Given the description of an element on the screen output the (x, y) to click on. 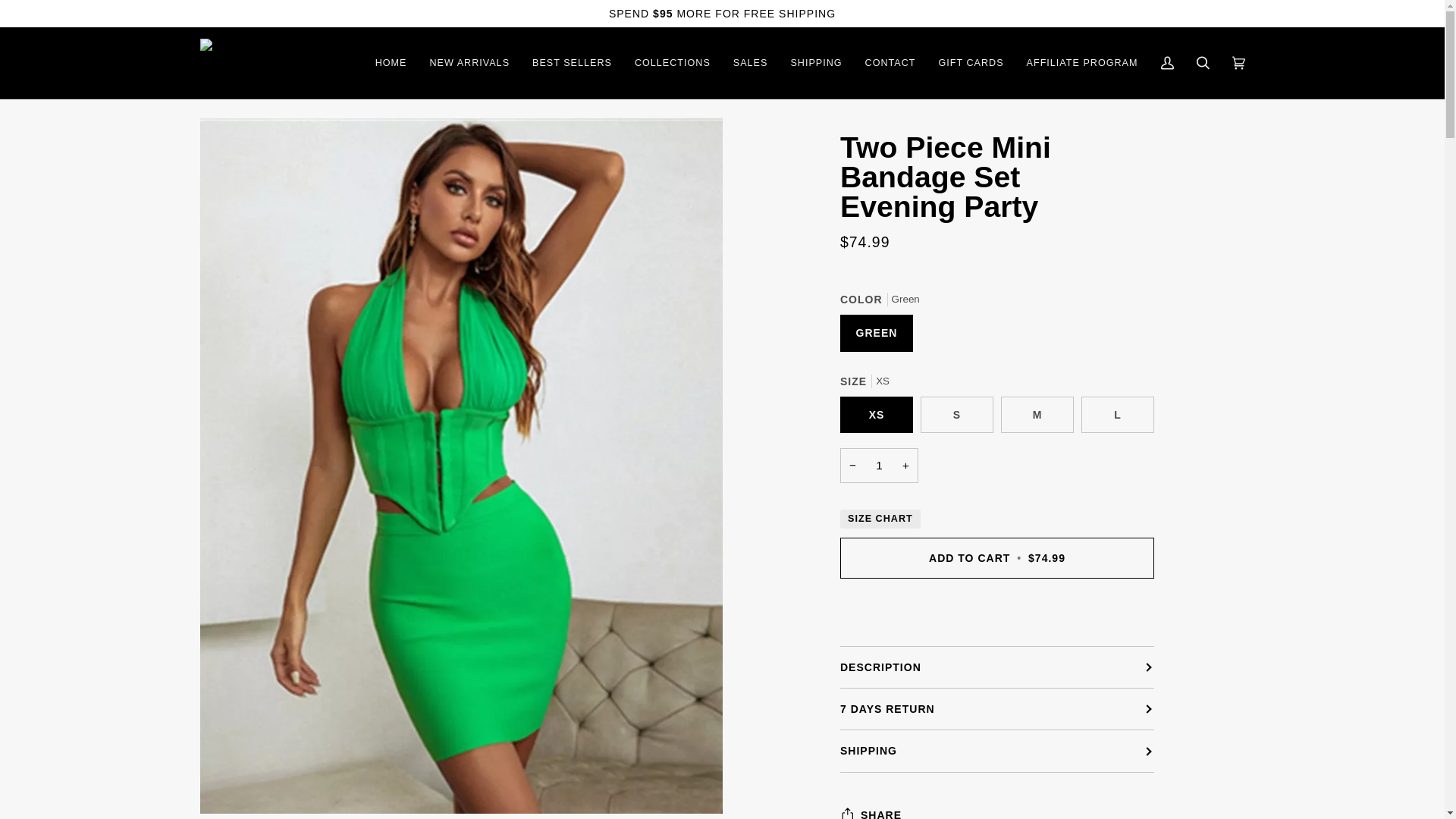
NEW ARRIVALS (469, 62)
COLLECTIONS (672, 62)
BEST SELLERS (572, 62)
1 (879, 465)
